Given the description of an element on the screen output the (x, y) to click on. 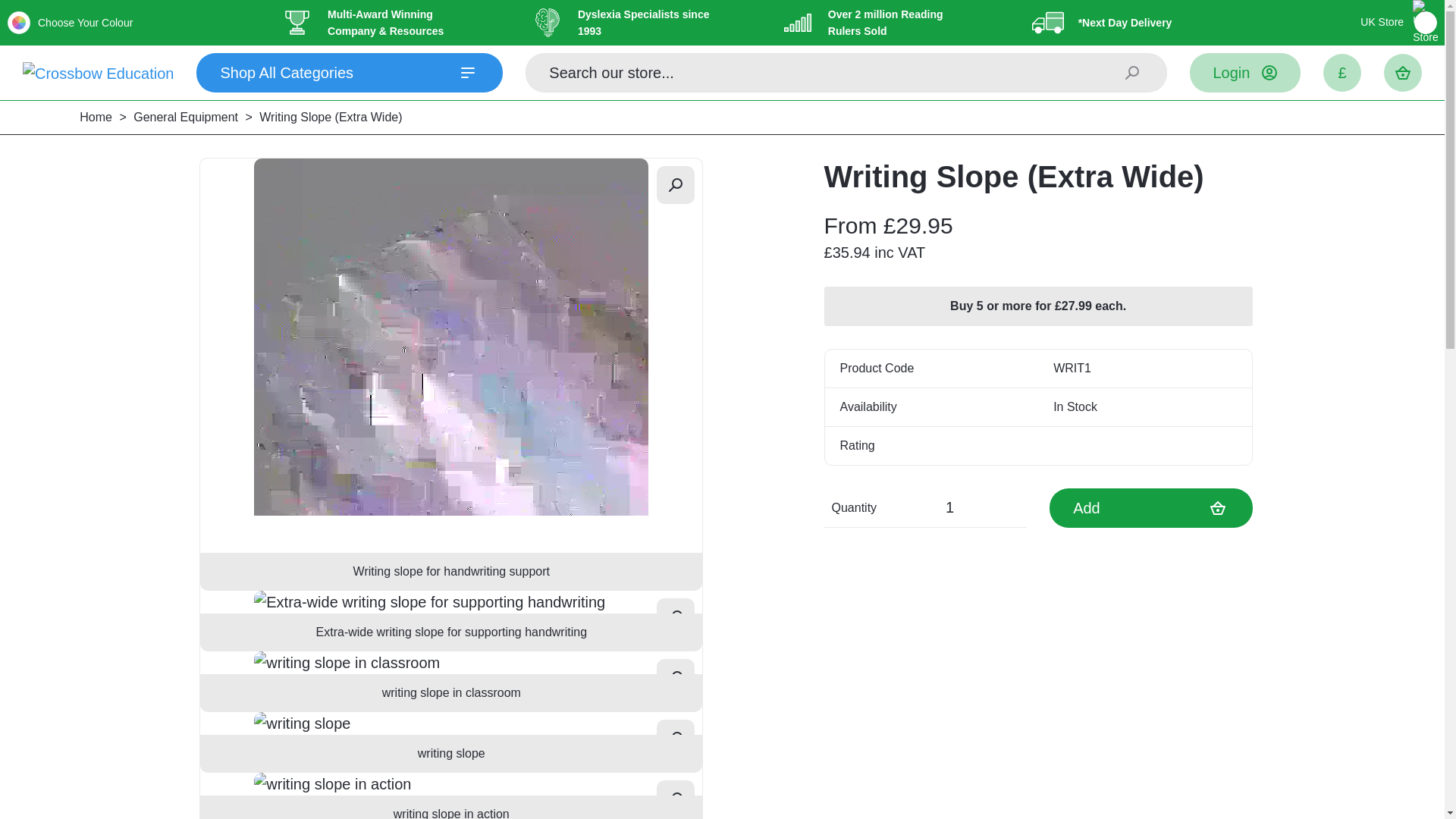
1 (954, 507)
Created with Sketch. (1047, 22)
Extra-wide writing slope for supporting handwriting (450, 601)
writing slope in classroom (450, 662)
writing slope in action (450, 784)
Shop All Categories (349, 72)
writing slope in action (450, 796)
writing slope (450, 722)
Extra-wide writing slope for supporting handwriting (450, 620)
writing slope (450, 742)
Created with Sketch. (297, 22)
writing slope in classroom (450, 681)
Created with Sketch. (797, 22)
